Given the description of an element on the screen output the (x, y) to click on. 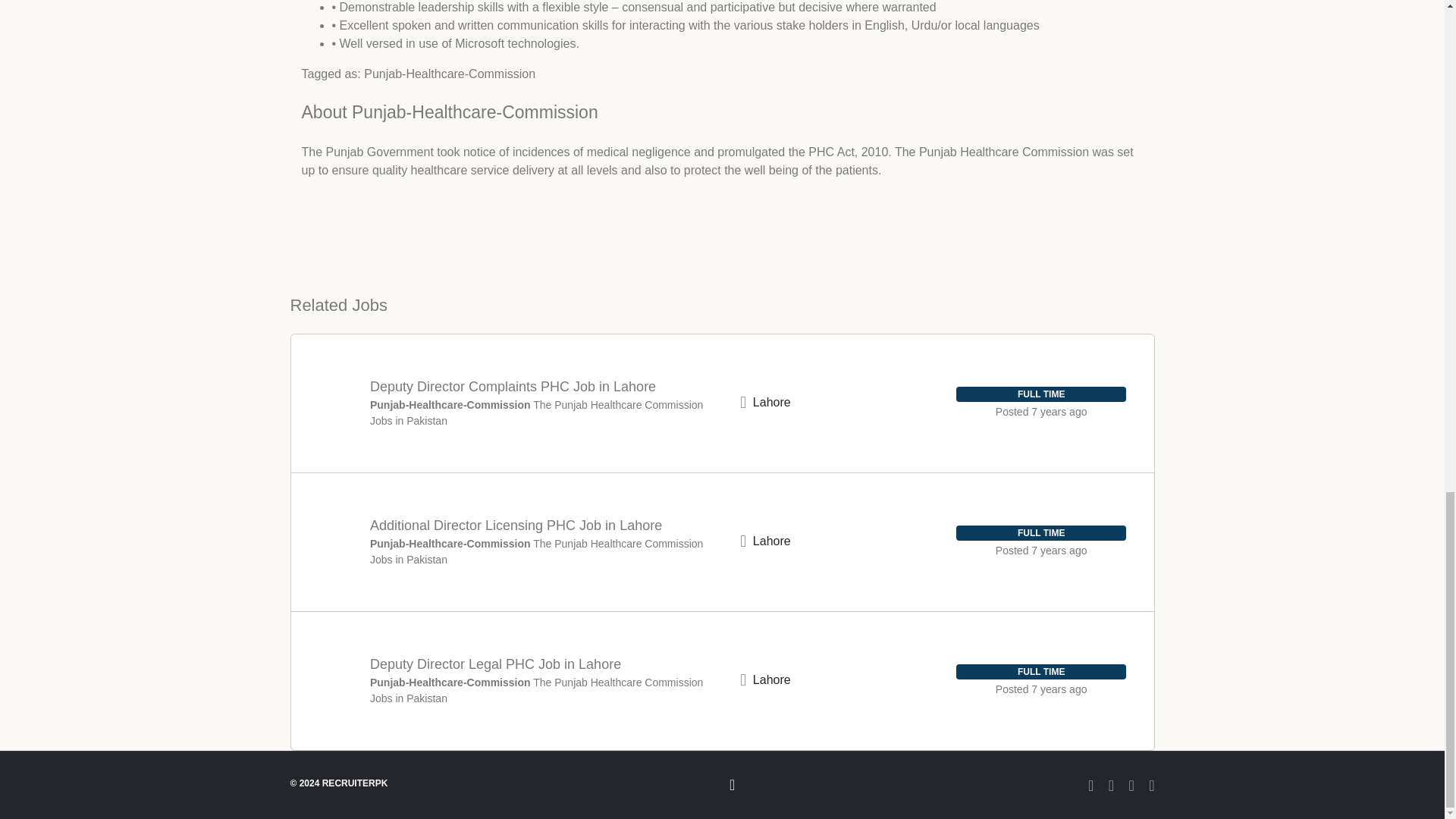
Lahore (771, 540)
Back to Top (721, 784)
Lahore (771, 679)
Lahore (771, 401)
